Given the description of an element on the screen output the (x, y) to click on. 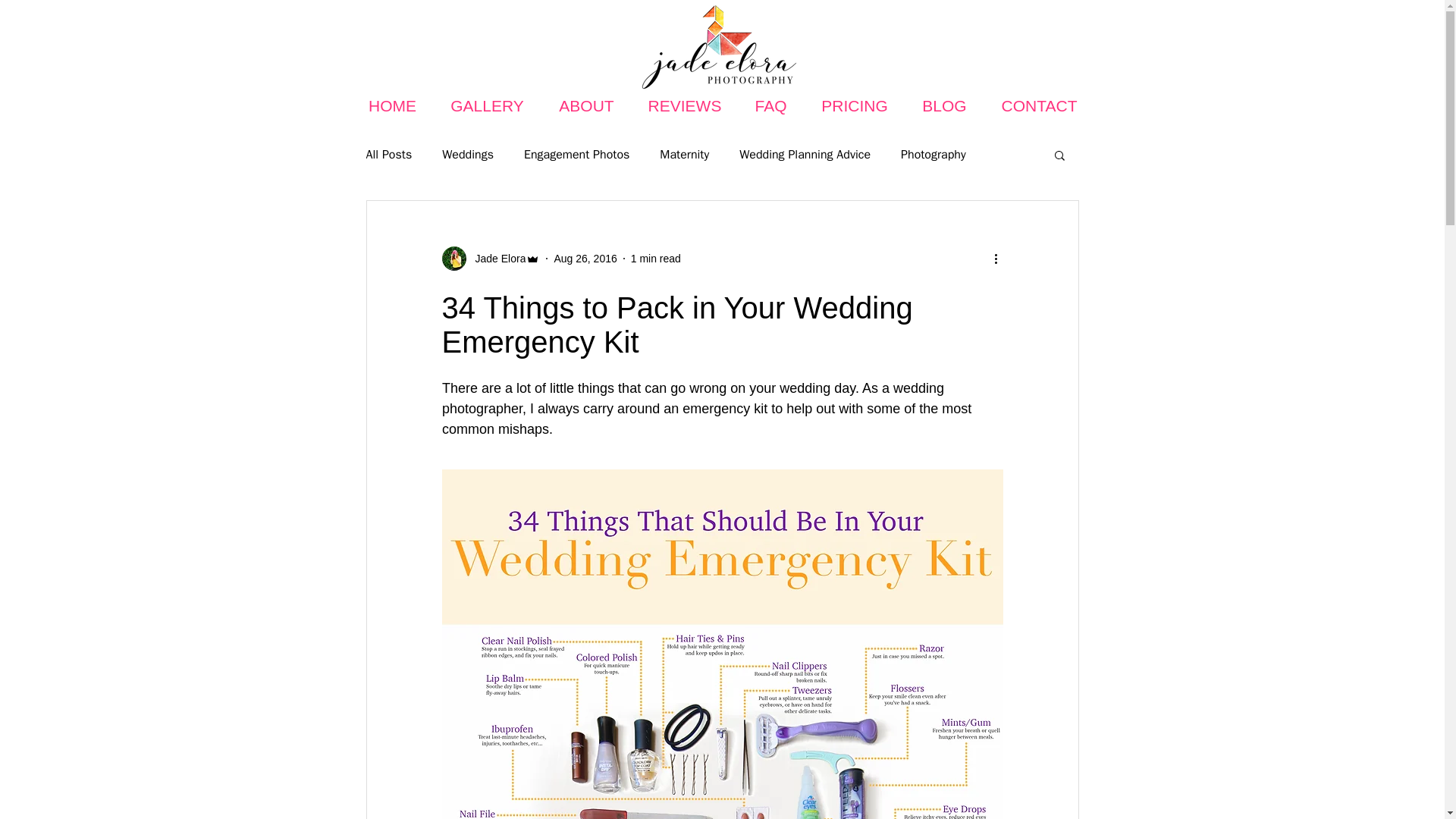
Aug 26, 2016 (584, 257)
Weddings (467, 154)
REVIEWS (684, 106)
Maternity (684, 154)
Photography (933, 154)
Engagement Photos (576, 154)
BLOG (944, 106)
ABOUT (586, 106)
CONTACT (1039, 106)
HOME (392, 106)
Jade Elora (495, 258)
Wedding Planning Advice (804, 154)
FAQ (769, 106)
All Posts (388, 154)
1 min read (655, 257)
